Given the description of an element on the screen output the (x, y) to click on. 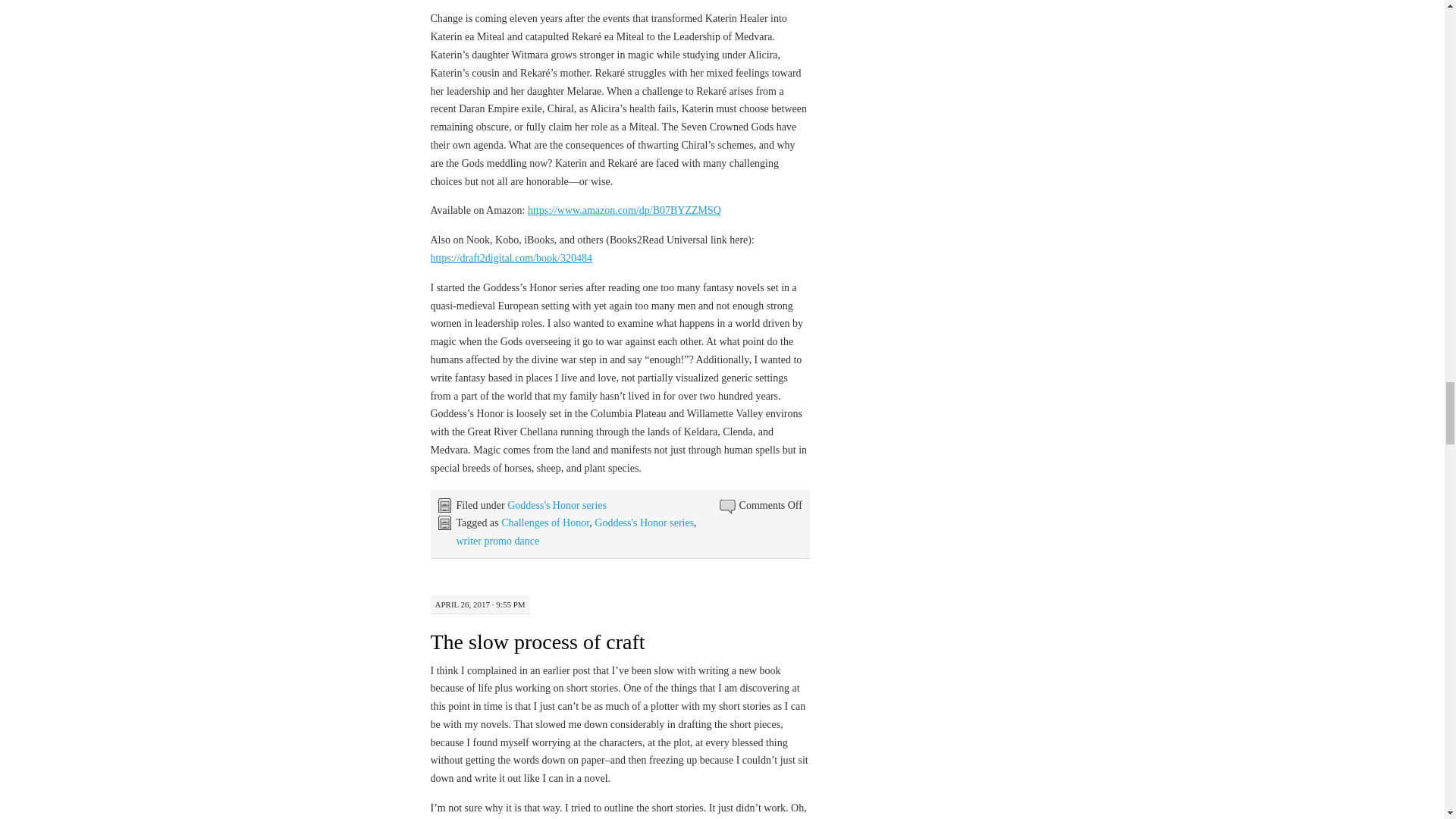
Challenges of Honor (544, 522)
Goddess's Honor series (556, 505)
